Given the description of an element on the screen output the (x, y) to click on. 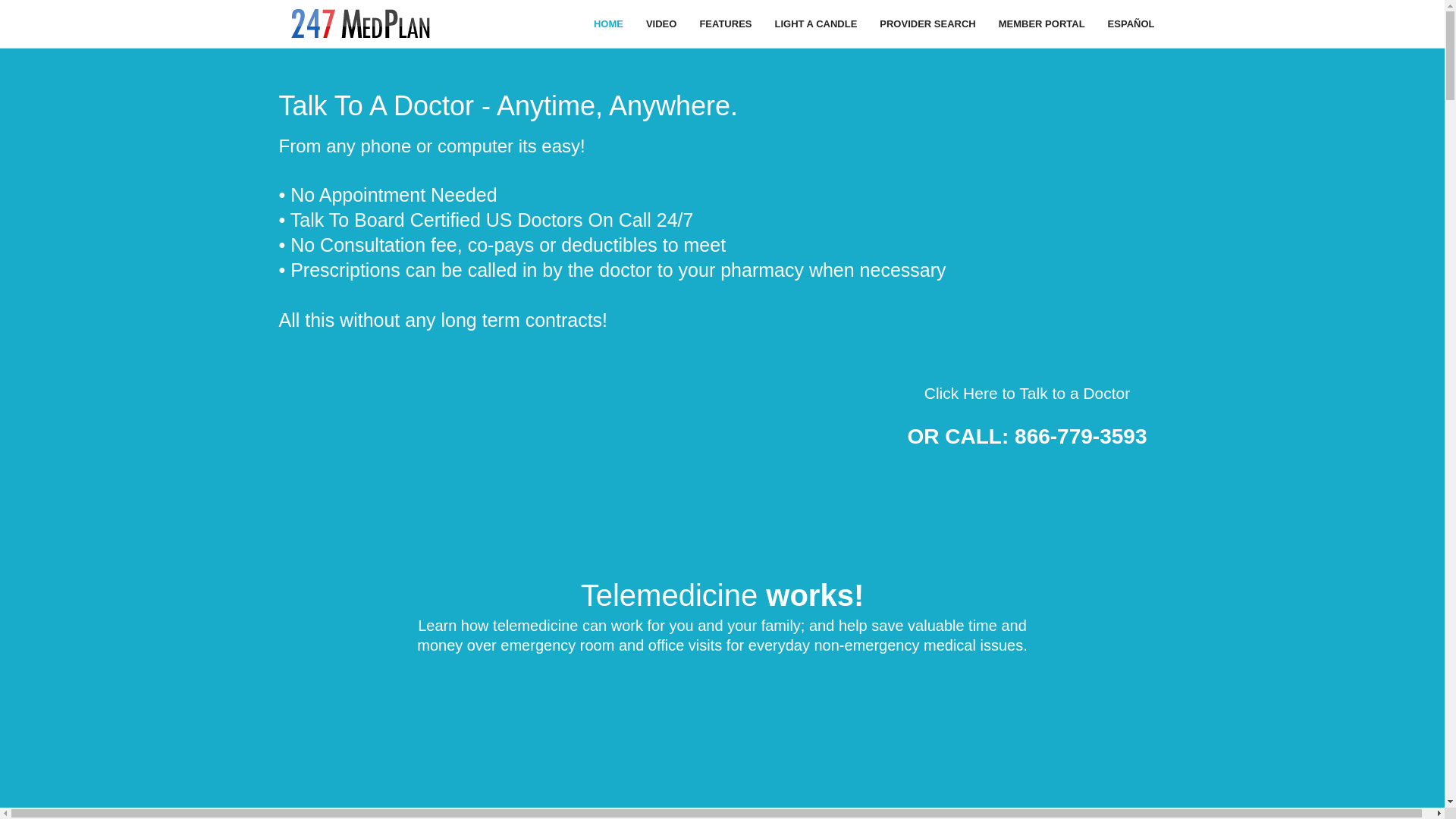
VIDEO Element type: text (660, 23)
LIGHT A CANDLE Element type: text (815, 23)
Click Here to Talk to a Doctor Element type: text (1027, 392)
PROVIDER SEARCH Element type: text (927, 23)
MEMBER PORTAL Element type: text (1041, 23)
FEATURES Element type: text (724, 23)
HOME Element type: text (608, 23)
